Given the description of an element on the screen output the (x, y) to click on. 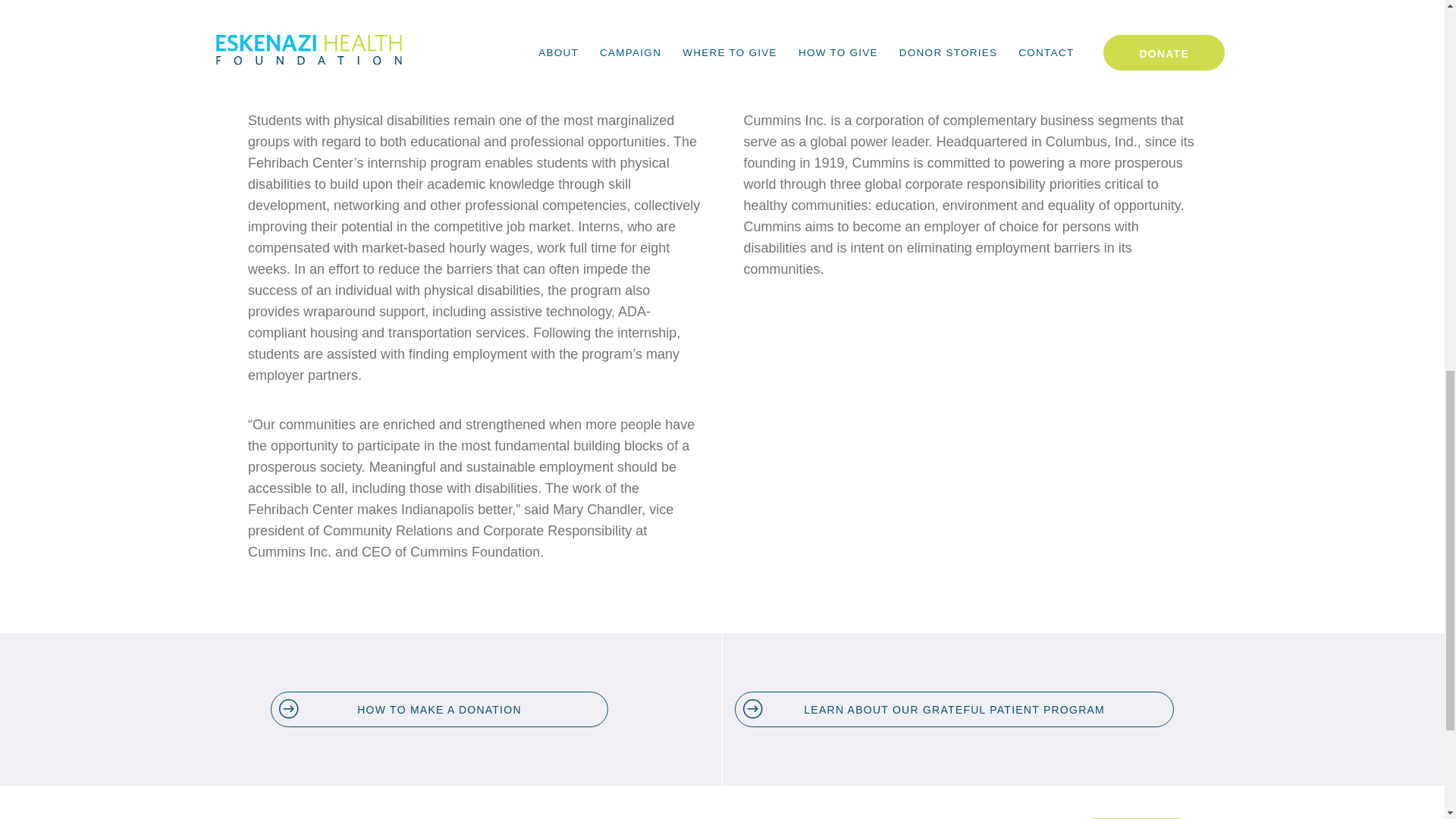
LEARN ABOUT OUR GRATEFUL PATIENT PROGRAM (954, 709)
HOW TO MAKE A DONATION (439, 709)
how to make a donation (439, 709)
Learn about our Grateful Patient Program (954, 709)
